Given the description of an element on the screen output the (x, y) to click on. 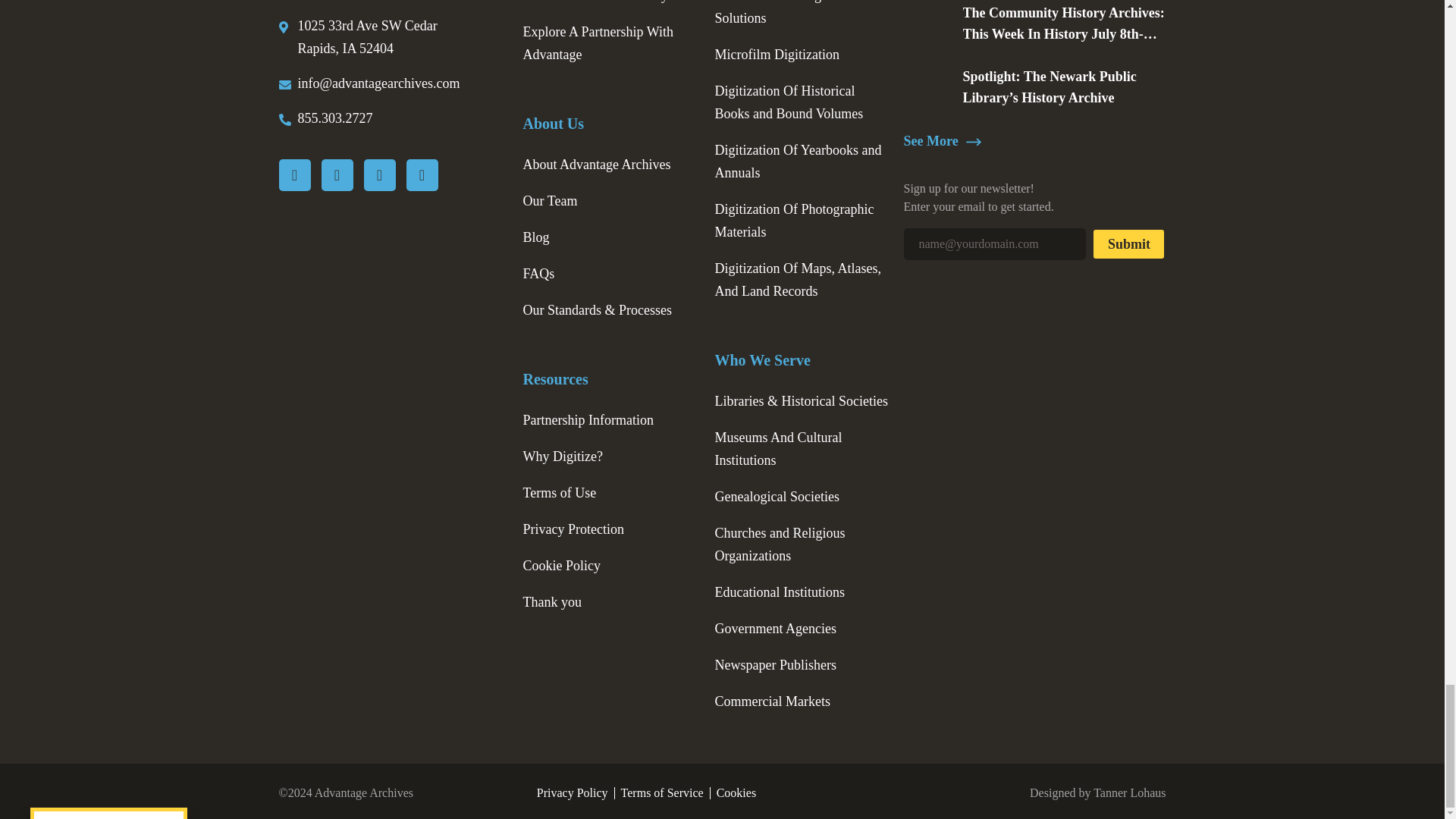
Submit (1129, 244)
